Given the description of an element on the screen output the (x, y) to click on. 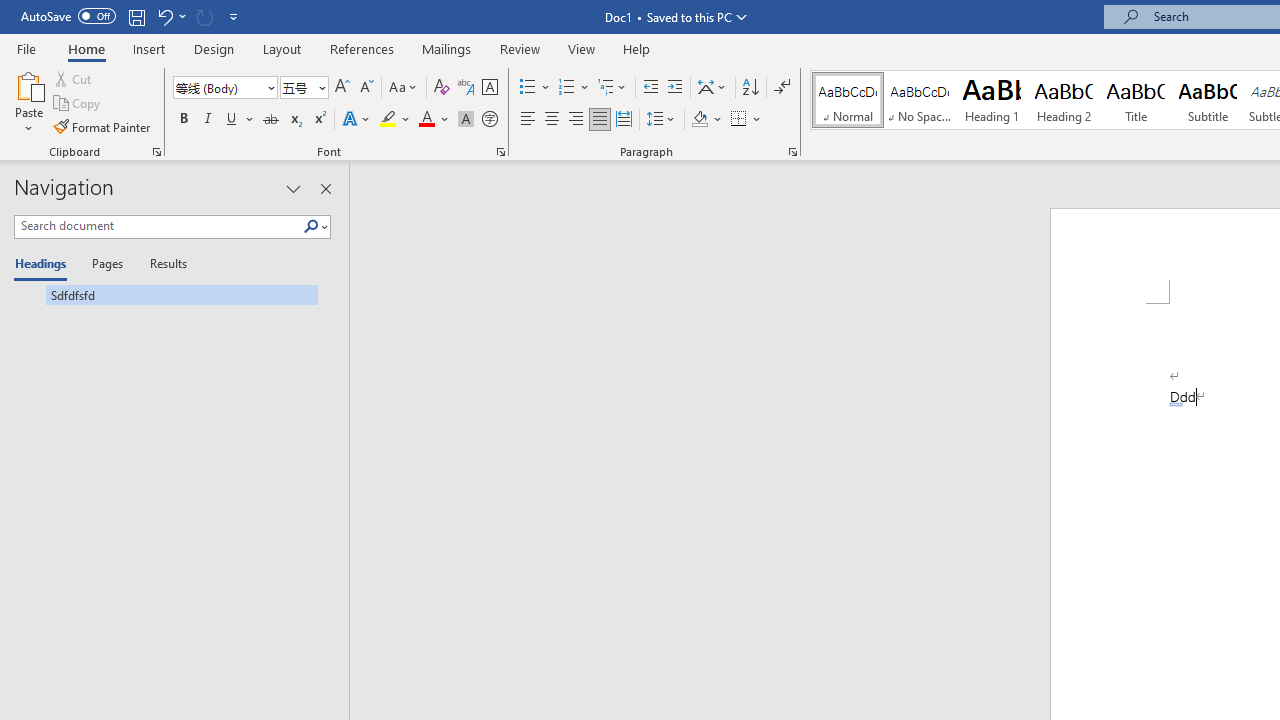
Font Color Red (426, 119)
Sdfdfsfd (166, 294)
